Given the description of an element on the screen output the (x, y) to click on. 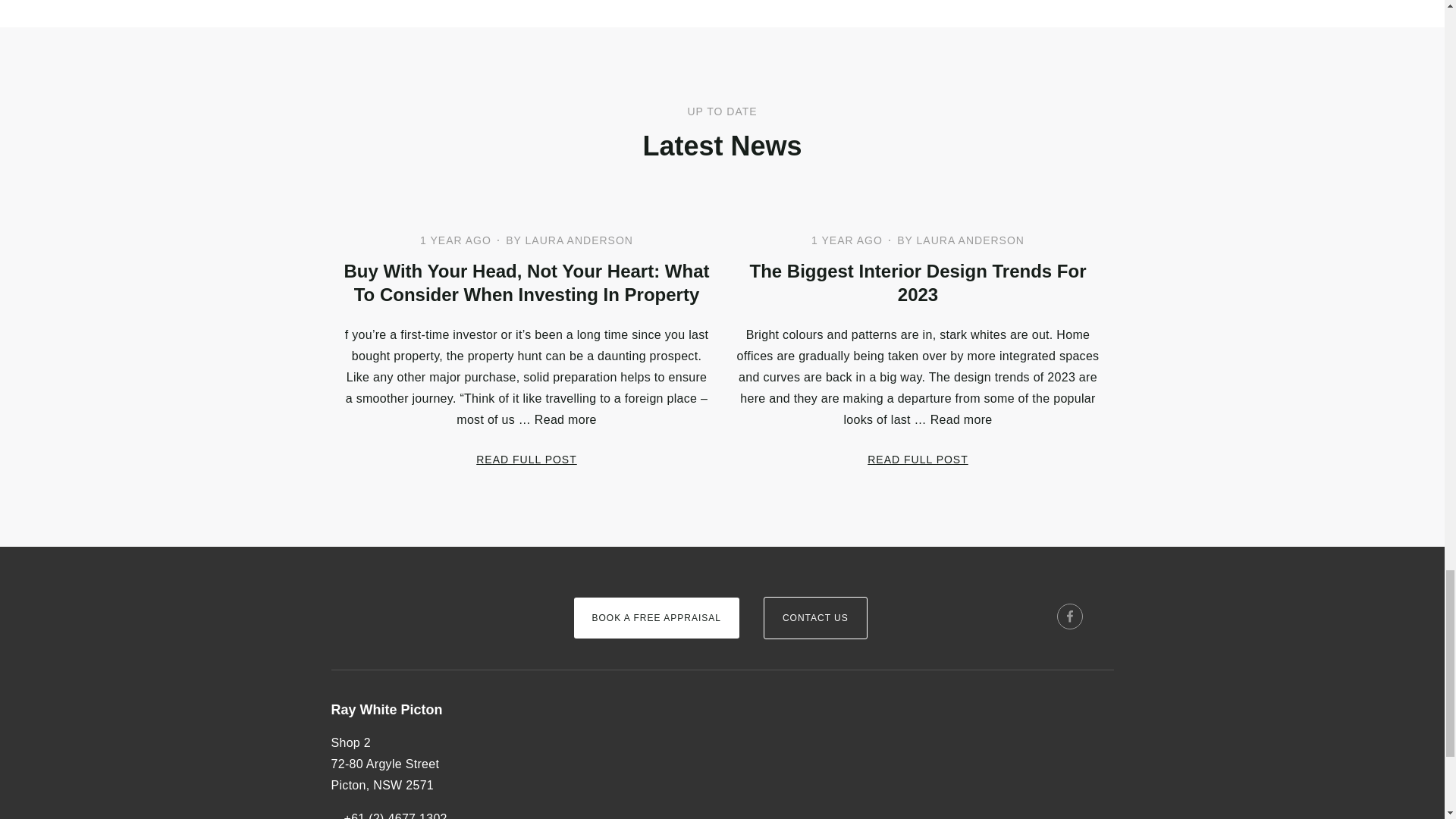
Ray White (376, 592)
Ray White Picton (439, 710)
BOOK A FREE APPRAISAL (655, 617)
READ FULL POST (917, 459)
Facebook (1070, 616)
READ FULL POST (526, 459)
The Biggest Interior Design Trends For 2023 (916, 282)
CONTACT US (814, 618)
